Given the description of an element on the screen output the (x, y) to click on. 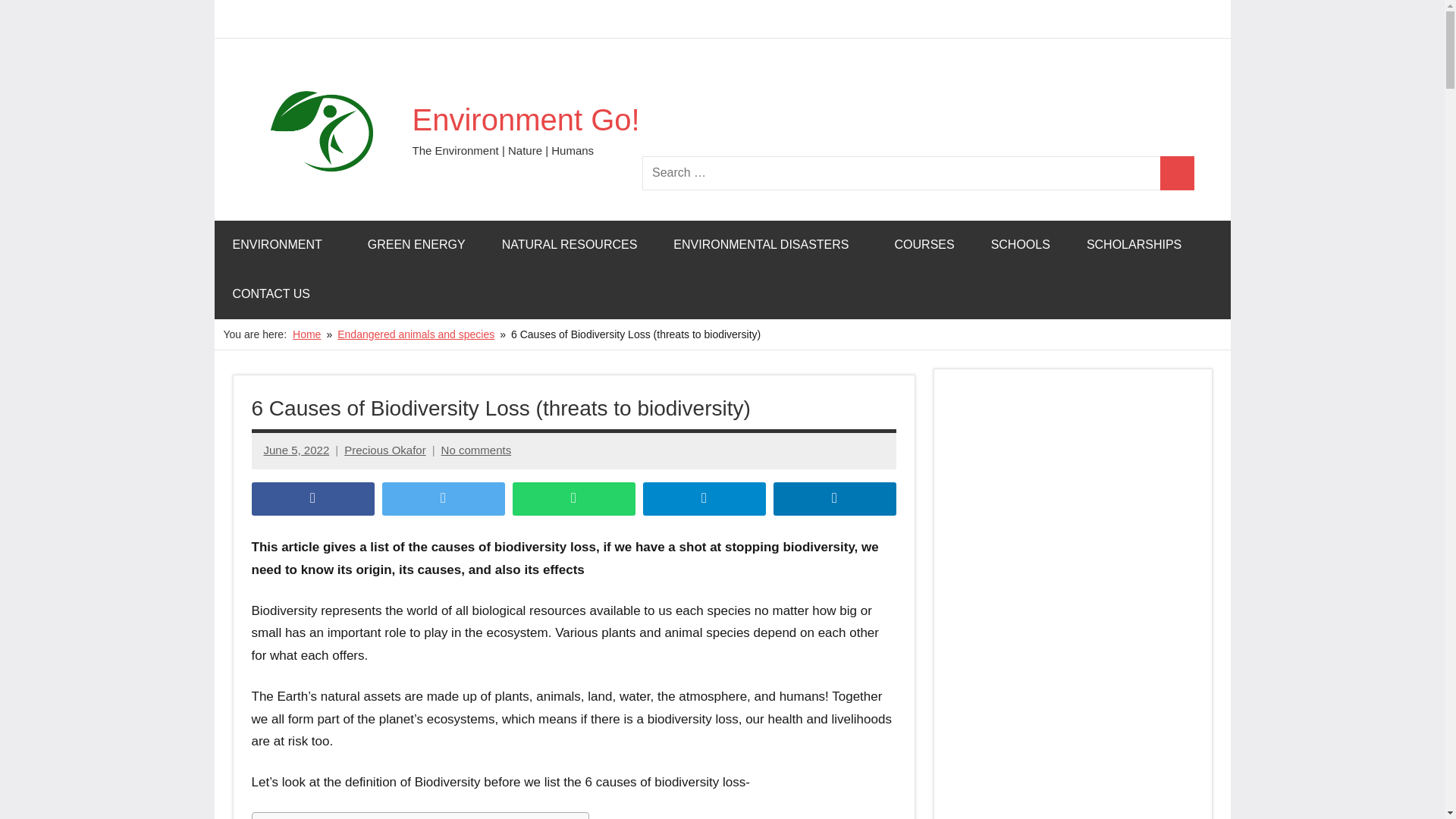
ENVIRONMENT (281, 245)
SCHOLARSHIPS (1133, 245)
NATURAL RESOURCES (569, 245)
Endangered animals and species (416, 333)
No comments (476, 449)
SCHOOLS (1020, 245)
June 5, 2022 (296, 449)
ENVIRONMENTAL DISASTERS (765, 245)
View all posts by Precious Okafor (384, 449)
Environment Go! (526, 119)
